Given the description of an element on the screen output the (x, y) to click on. 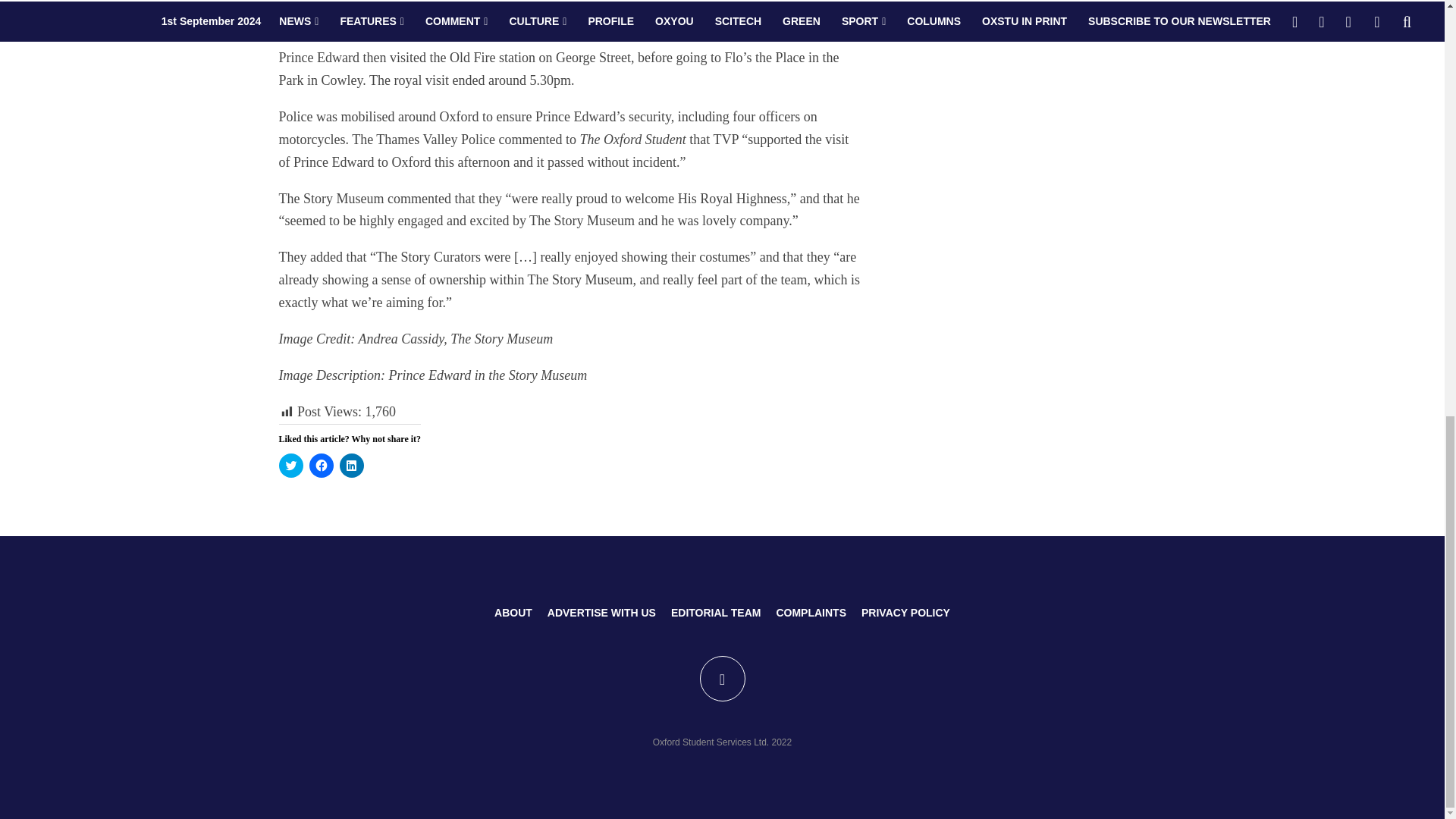
Click to share on LinkedIn (351, 465)
Click to share on Twitter (290, 465)
Click to share on Facebook (320, 465)
